Given the description of an element on the screen output the (x, y) to click on. 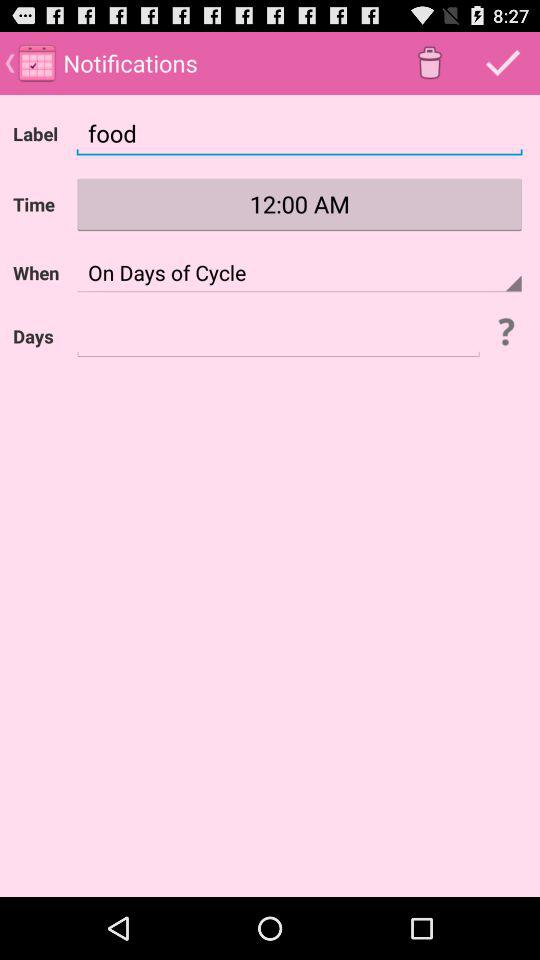
select number of days (278, 335)
